Given the description of an element on the screen output the (x, y) to click on. 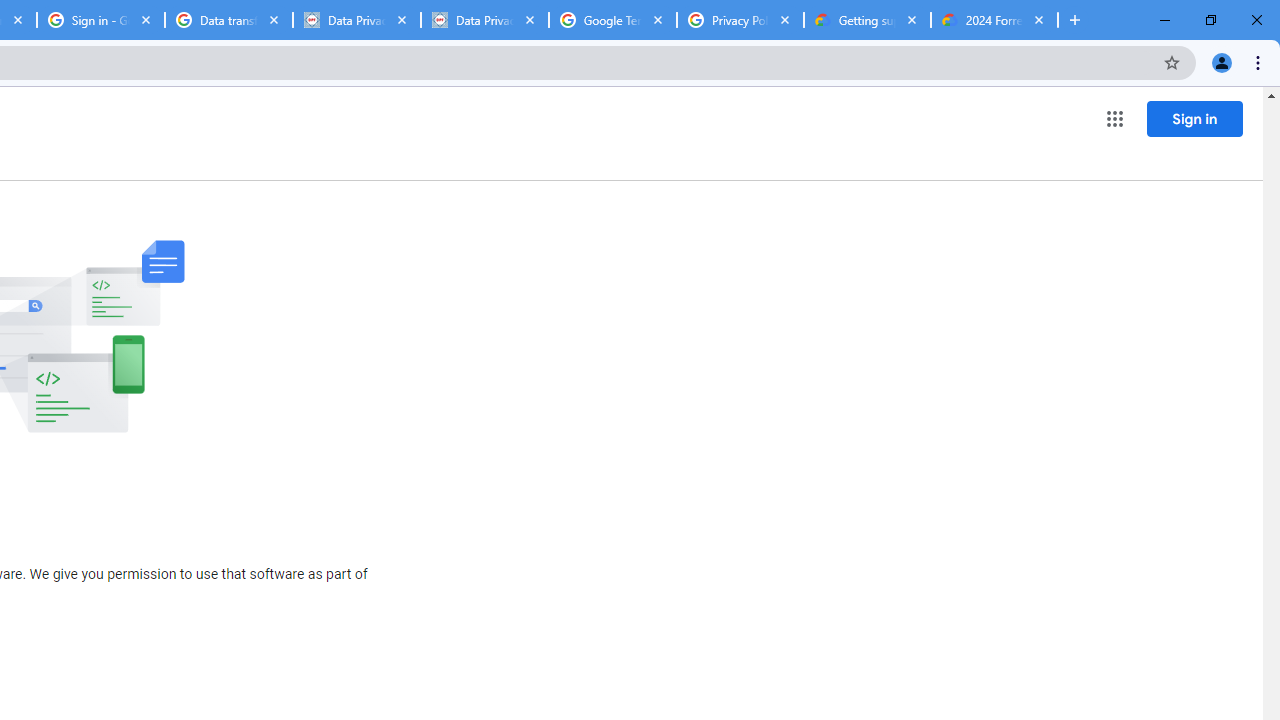
Sign in - Google Accounts (101, 20)
